Given the description of an element on the screen output the (x, y) to click on. 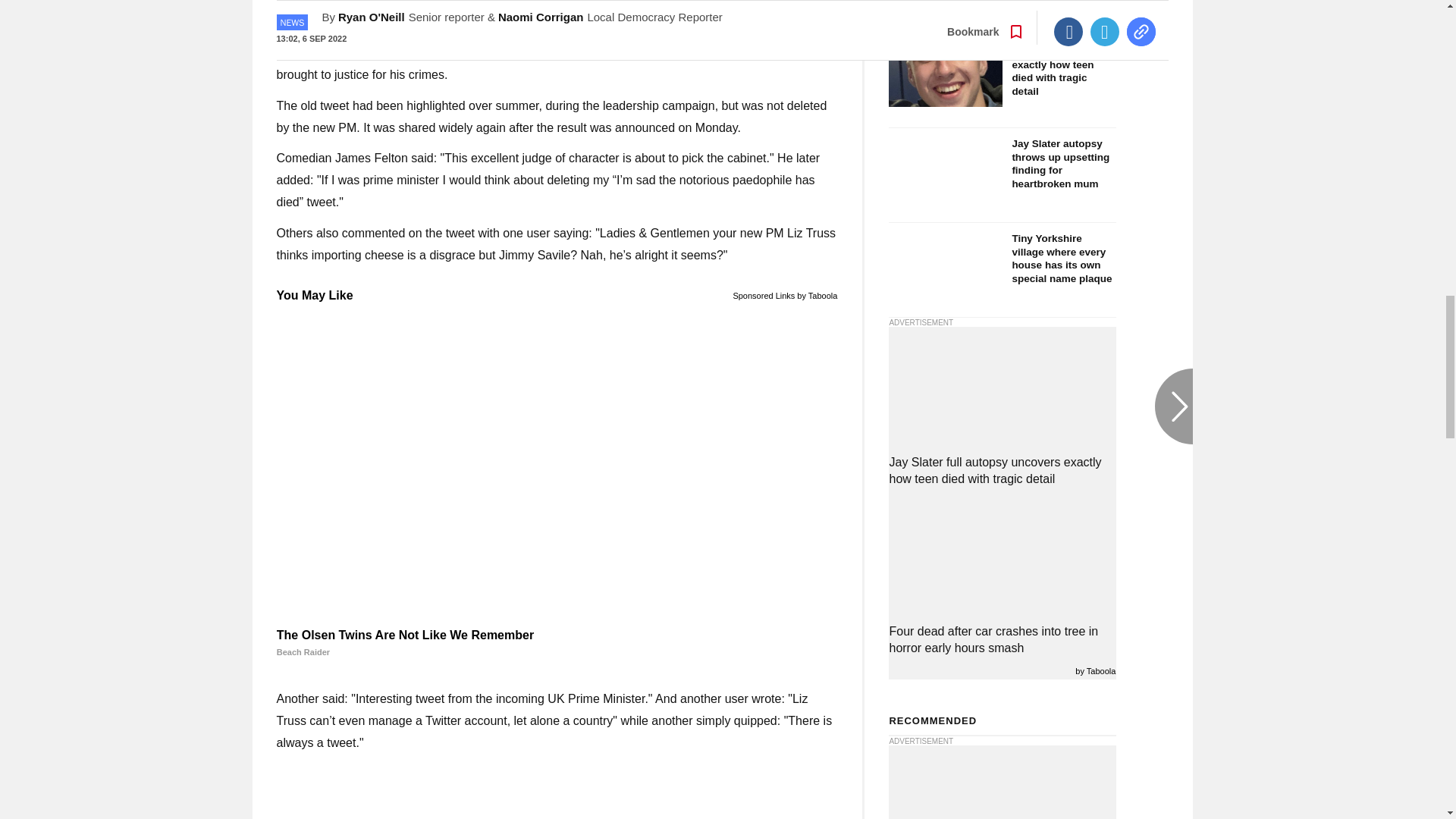
The Olsen Twins Are Not Like We Remember (557, 643)
